Given the description of an element on the screen output the (x, y) to click on. 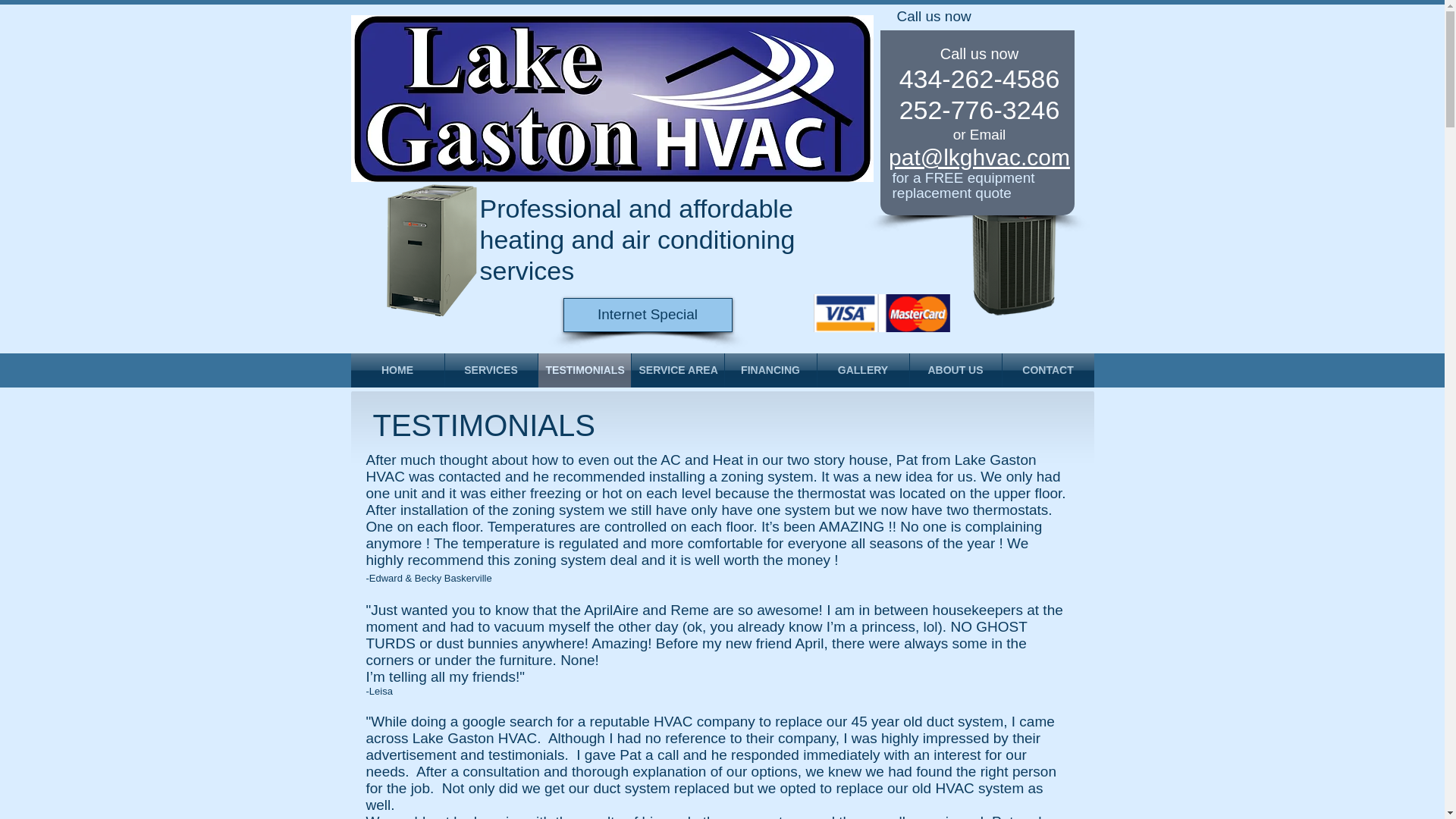
HOME (397, 369)
GALLERY (862, 369)
FINANCING (770, 369)
Lake Gaston HVAC Logo.JPG (611, 98)
SERVICES (490, 369)
CONTACT (1048, 369)
SERVICE AREA (676, 369)
Internet Special (647, 315)
TESTIMONIALS (584, 369)
ABOUT US (955, 369)
